Given the description of an element on the screen output the (x, y) to click on. 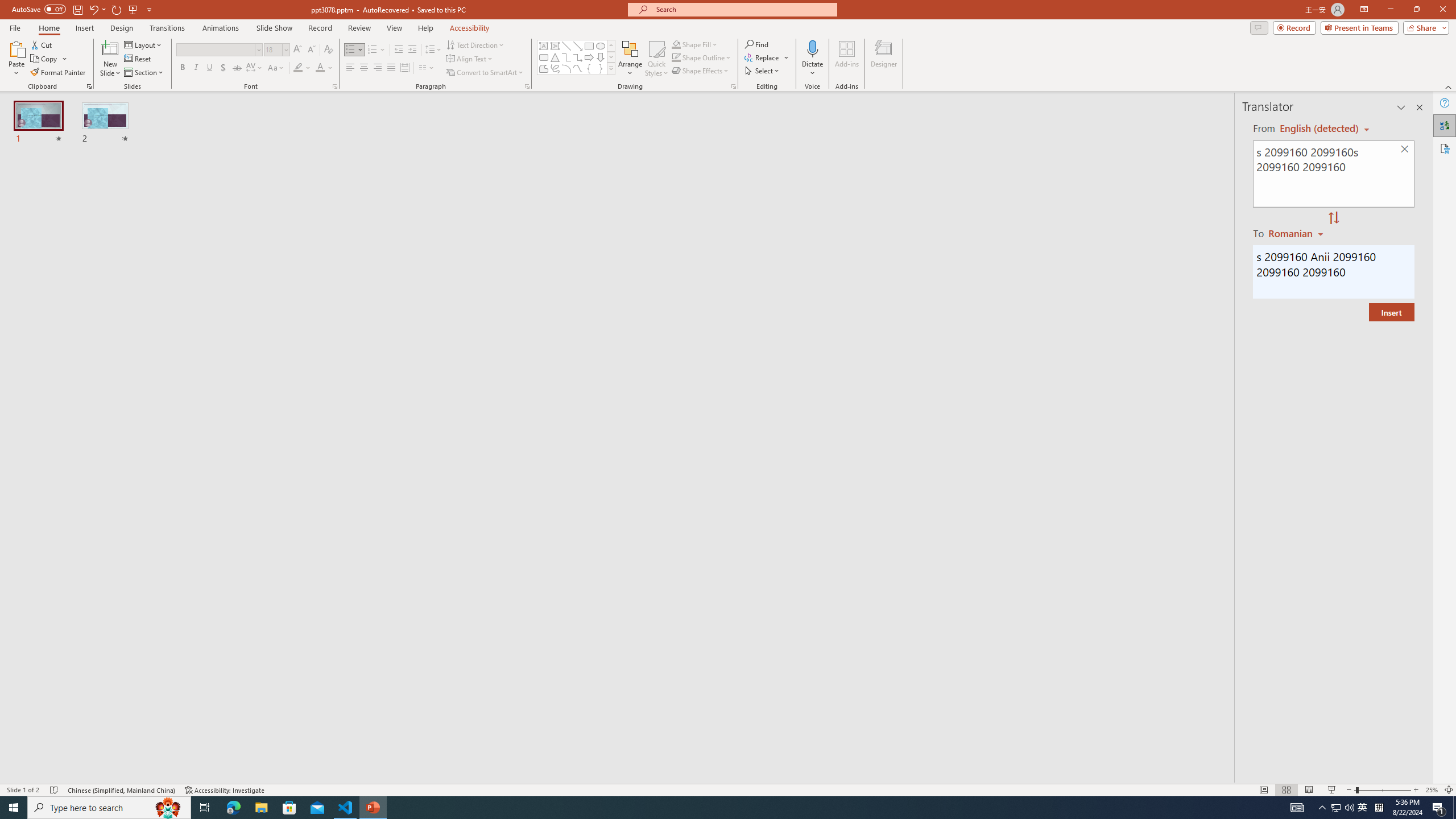
Shape Outline Green, Accent 1 (675, 56)
Czech (detected) (1319, 128)
